Given the description of an element on the screen output the (x, y) to click on. 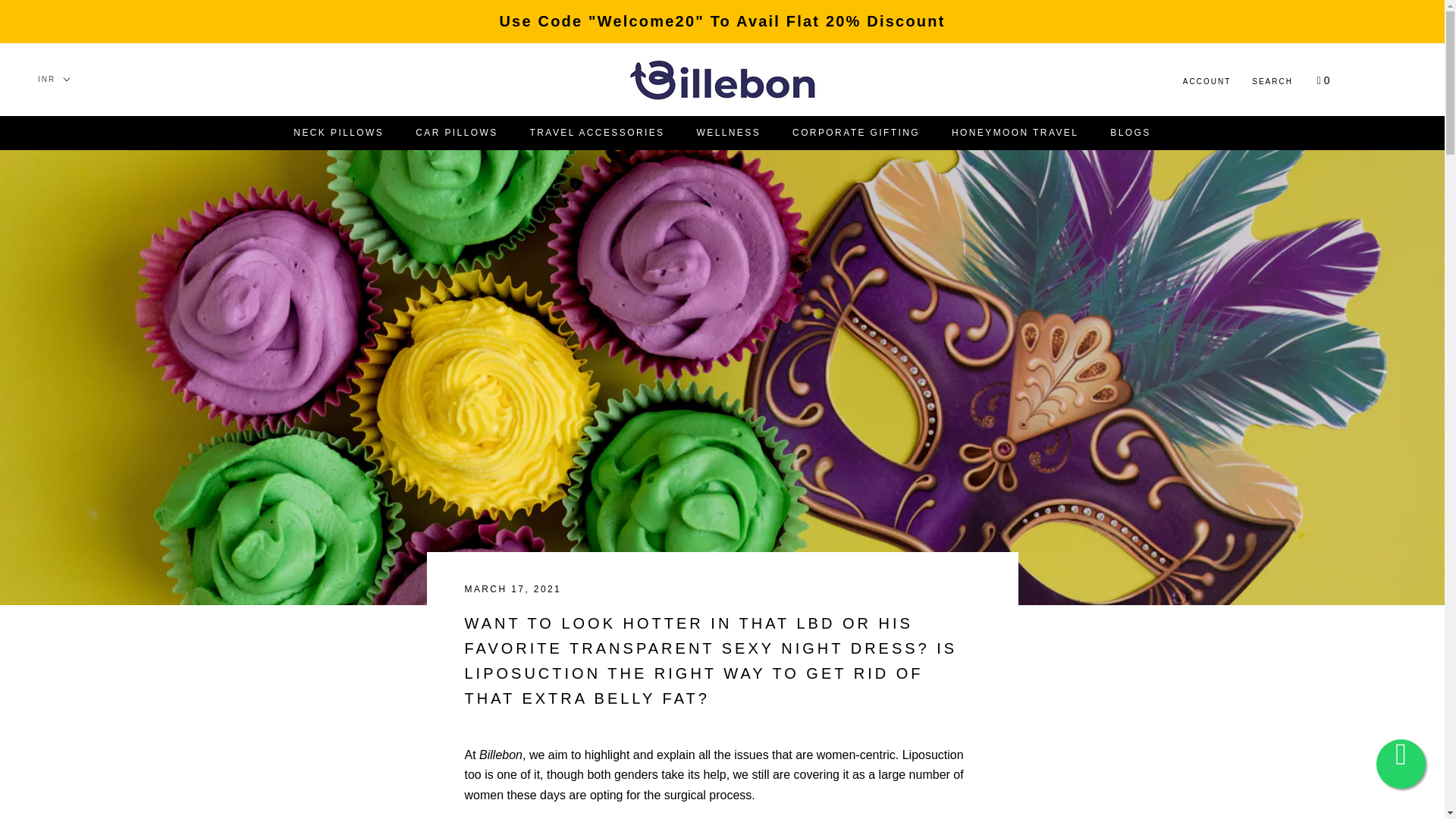
Currency selector (53, 79)
0 (1323, 80)
SEARCH (1272, 82)
ACCOUNT (856, 132)
